Given the description of an element on the screen output the (x, y) to click on. 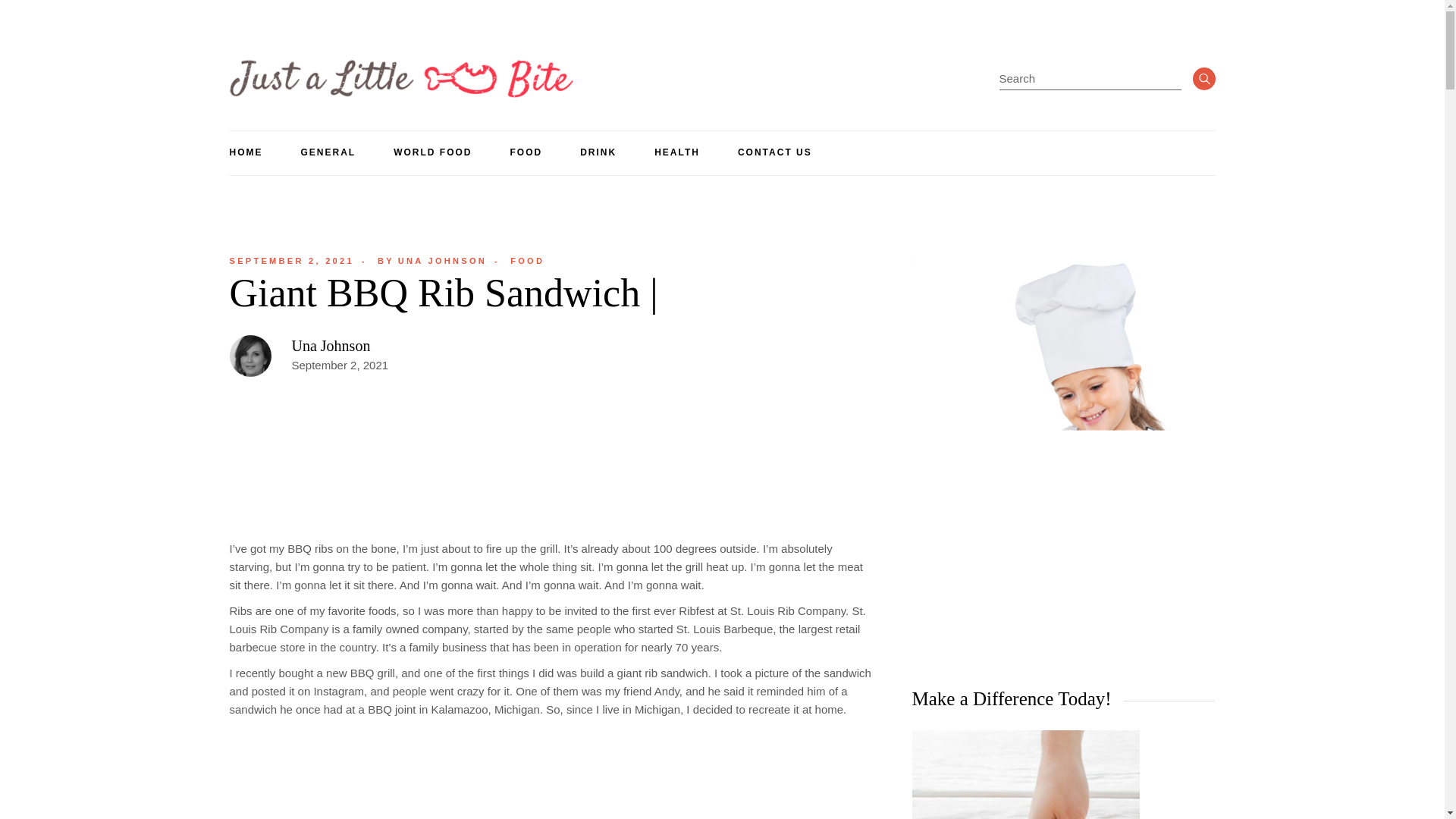
CONTACT US (431, 261)
HEALTH (775, 153)
FOOD (676, 153)
Una Johnson (527, 261)
Title Text:  (330, 345)
SEPTEMBER 2, 2021 (290, 261)
GENERAL (290, 261)
Make a Difference Today! (327, 153)
WORLD FOOD (1024, 774)
